Given the description of an element on the screen output the (x, y) to click on. 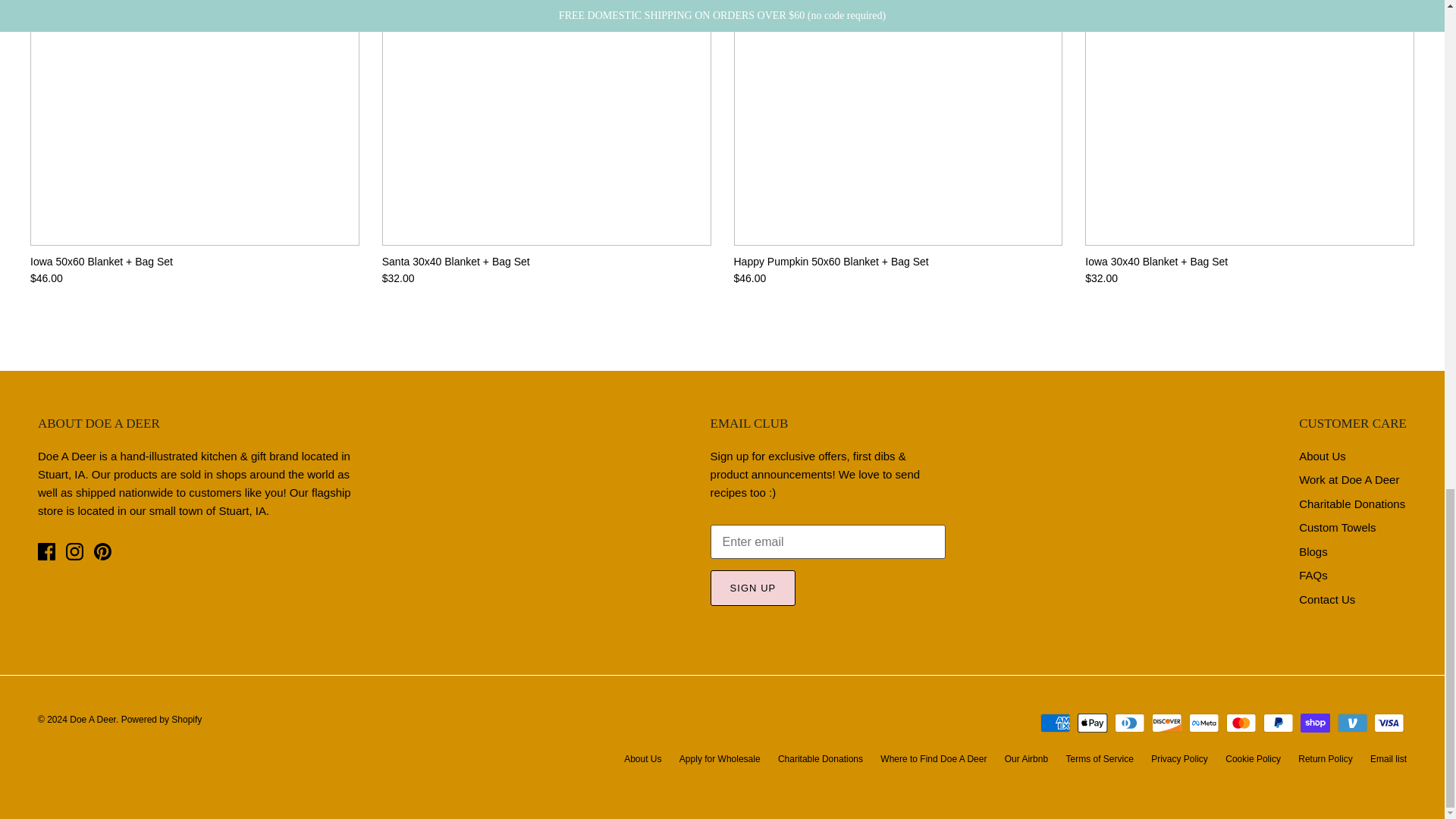
American Express (1055, 722)
Meta Pay (1203, 722)
Discover (1166, 722)
Diners Club (1129, 722)
Apple Pay (1092, 722)
Pinterest (103, 551)
Instagram (73, 551)
Facebook (46, 551)
